Given the description of an element on the screen output the (x, y) to click on. 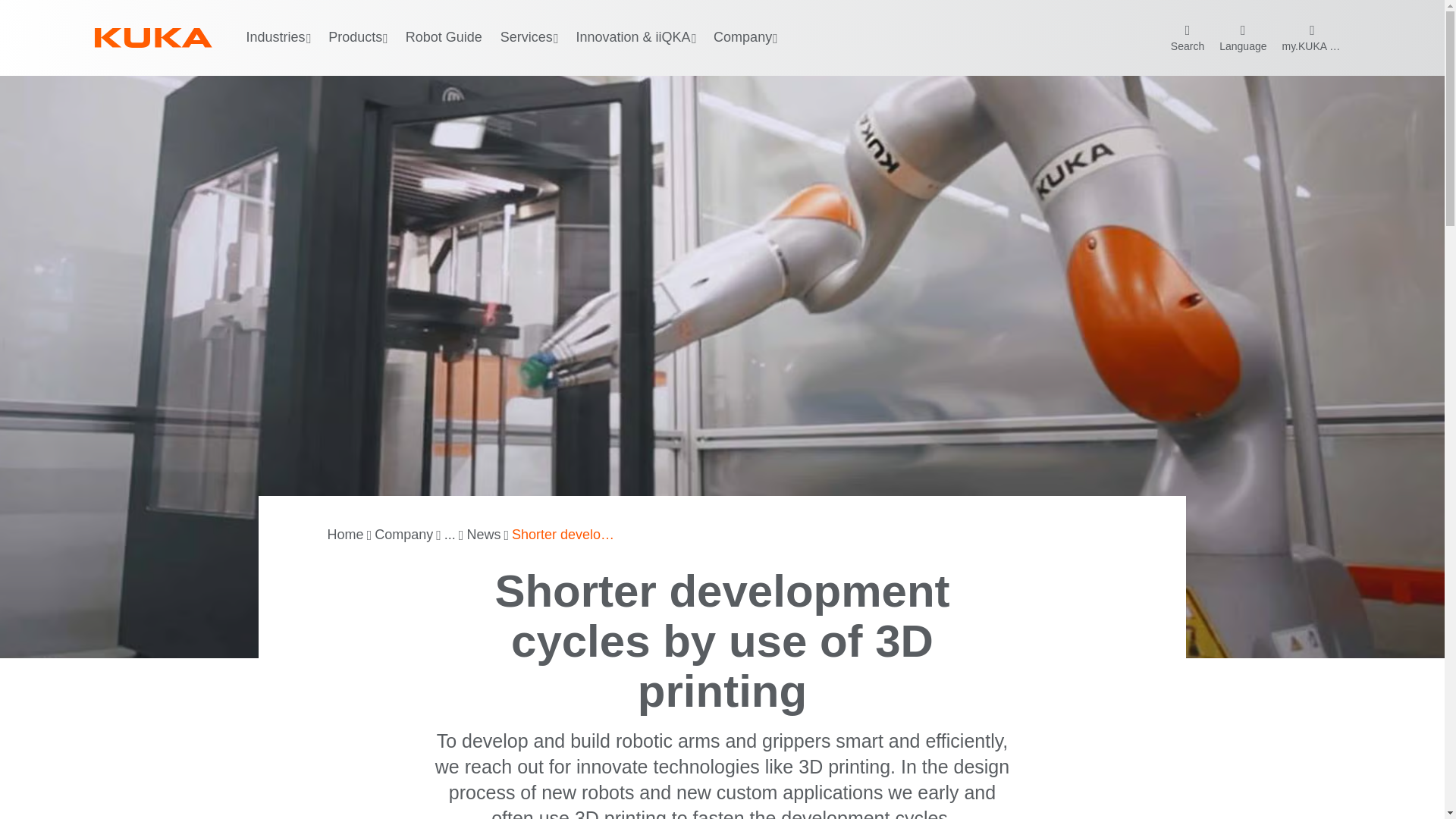
Company (403, 535)
Home (345, 535)
News (482, 535)
Shorter development cycles by use of 3D printer (566, 535)
